Given the description of an element on the screen output the (x, y) to click on. 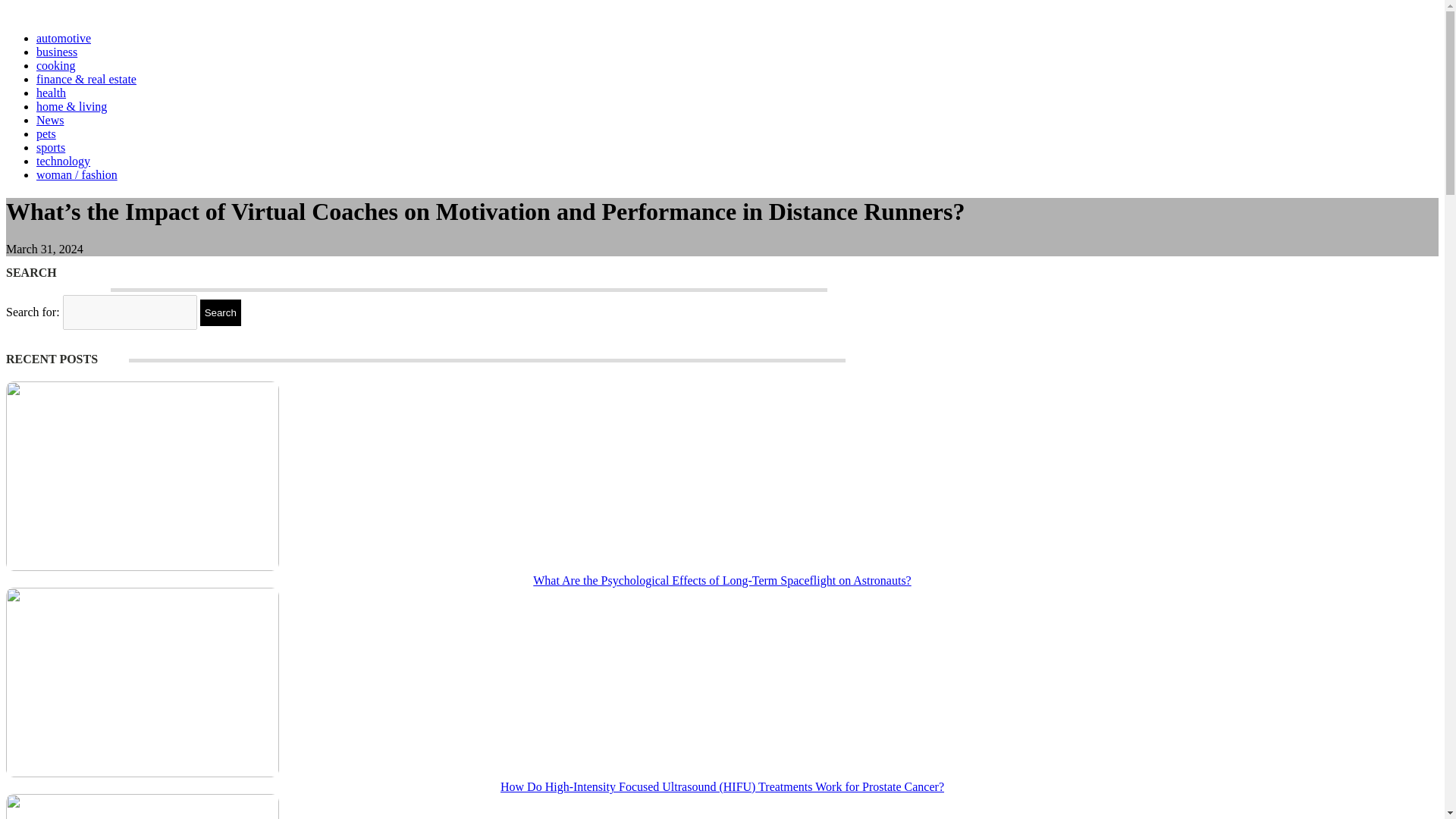
health (50, 92)
cooking (55, 65)
pets (46, 133)
Search (220, 312)
automotive (63, 38)
News (50, 119)
business (56, 51)
sports (50, 146)
technology (63, 160)
Search (220, 312)
